Given the description of an element on the screen output the (x, y) to click on. 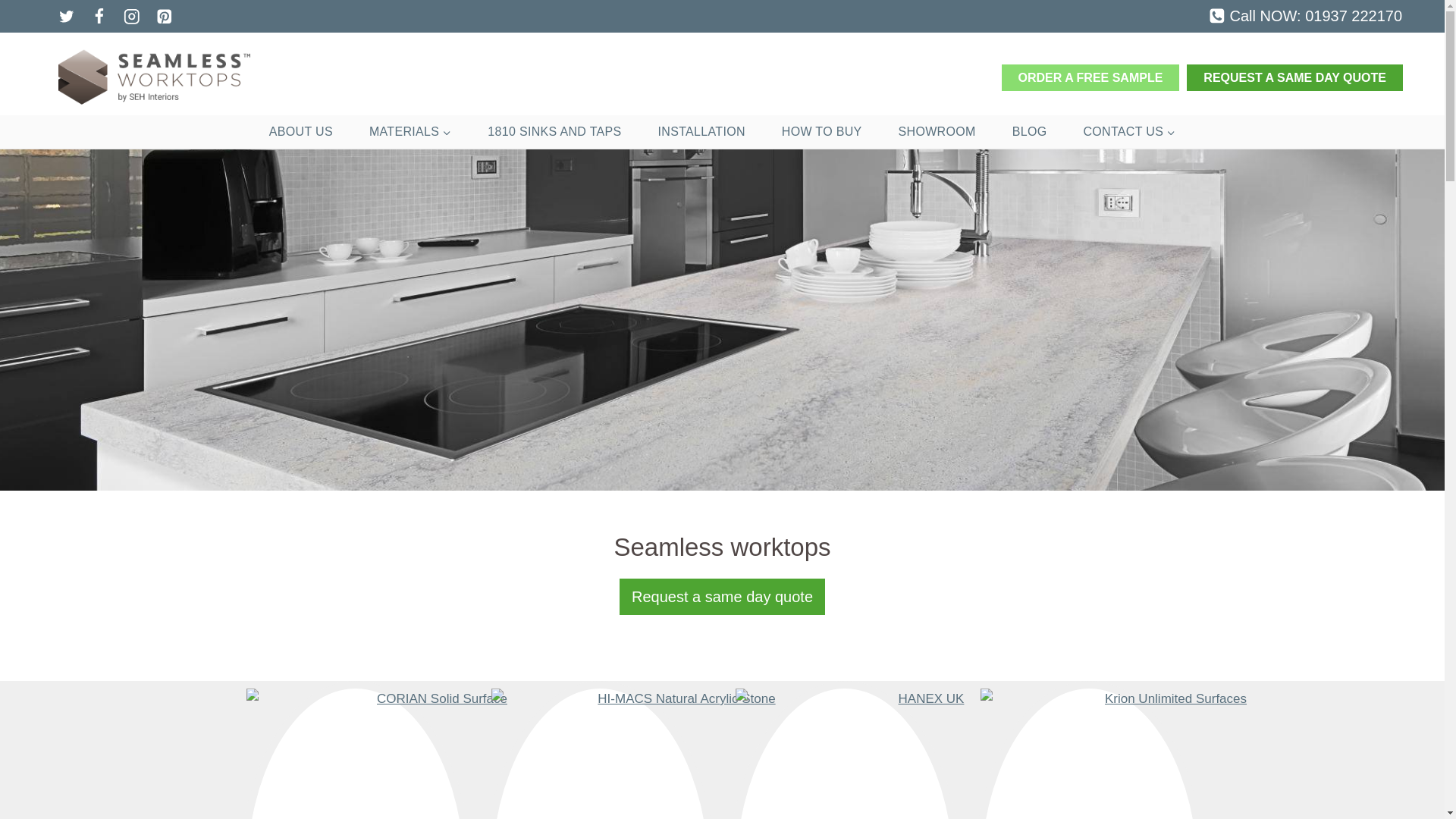
ABOUT US (300, 131)
BLOG (1029, 131)
ORDER A FREE SAMPLE (1090, 77)
HOW TO BUY (821, 131)
SHOWROOM (937, 131)
Request a same day quote (722, 596)
1810 SINKS AND TAPS (553, 131)
MATERIALS (409, 131)
Call NOW: 01937 222170 (1305, 15)
CONTACT US (1128, 131)
